Given the description of an element on the screen output the (x, y) to click on. 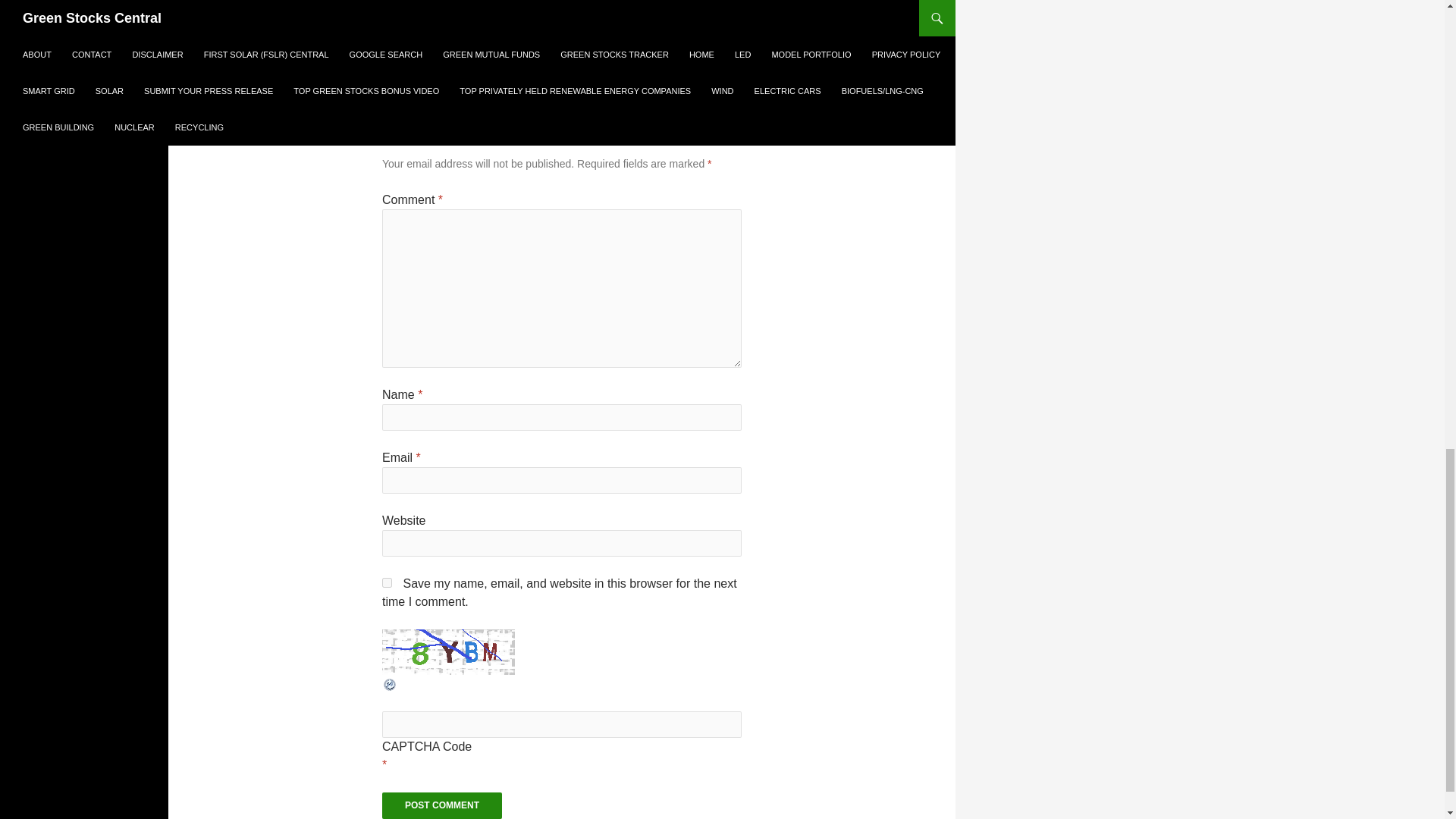
Refresh Image (389, 683)
CAPTCHA Image (448, 651)
yes (386, 583)
